Given the description of an element on the screen output the (x, y) to click on. 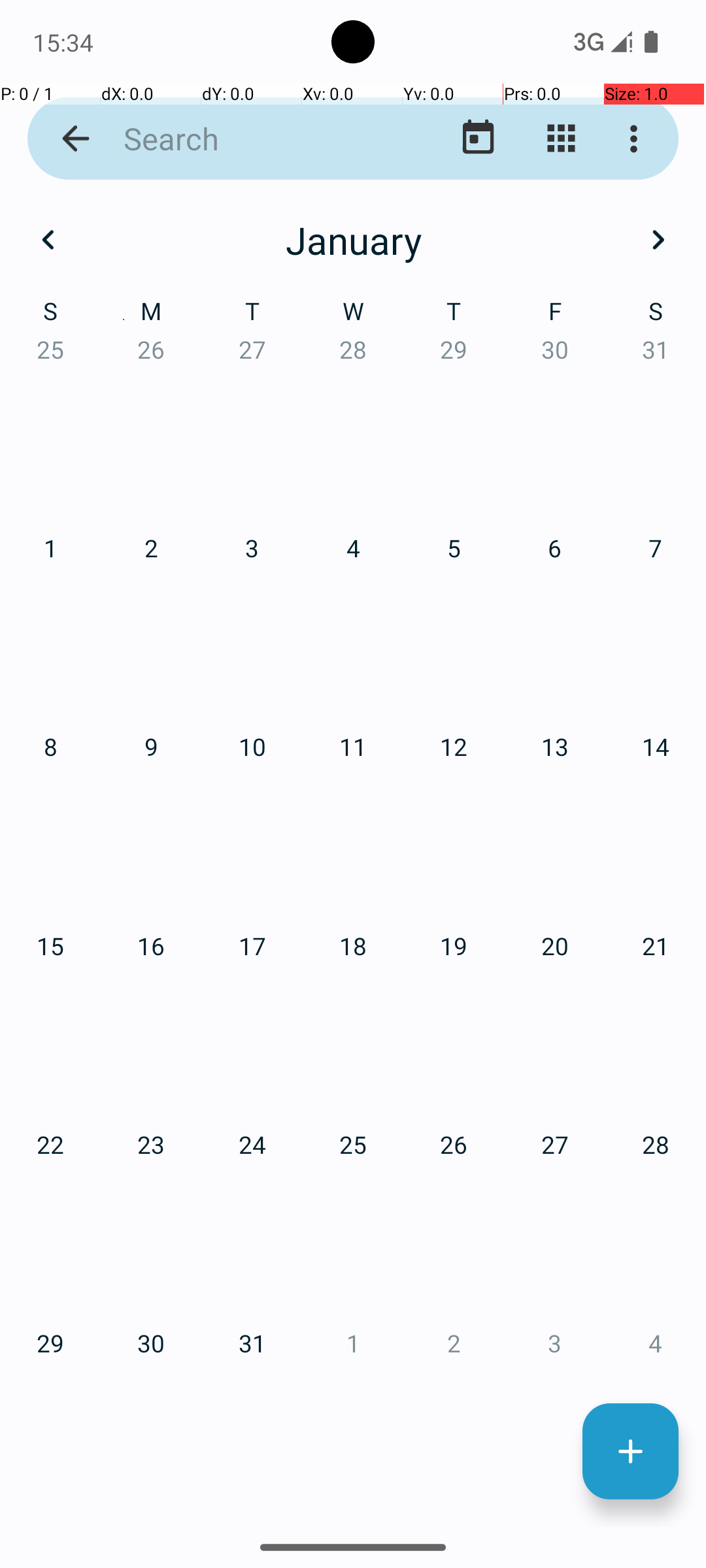
Go to today Element type: android.widget.Button (477, 138)
JANUARY Element type: android.widget.TextView (123, 319)
FEBRUARY Element type: android.widget.TextView (352, 319)
MARCH Element type: android.widget.TextView (582, 319)
APRIL Element type: android.widget.TextView (123, 621)
MAY Element type: android.widget.TextView (352, 621)
JUNE Element type: android.widget.TextView (582, 621)
JULY Element type: android.widget.TextView (123, 923)
AUGUST Element type: android.widget.TextView (352, 923)
SEPTEMBER Element type: android.widget.TextView (582, 923)
OCTOBER Element type: android.widget.TextView (123, 1224)
NOVEMBER Element type: android.widget.TextView (352, 1224)
DECEMBER Element type: android.widget.TextView (582, 1224)
January Element type: android.widget.TextView (352, 239)
